Given the description of an element on the screen output the (x, y) to click on. 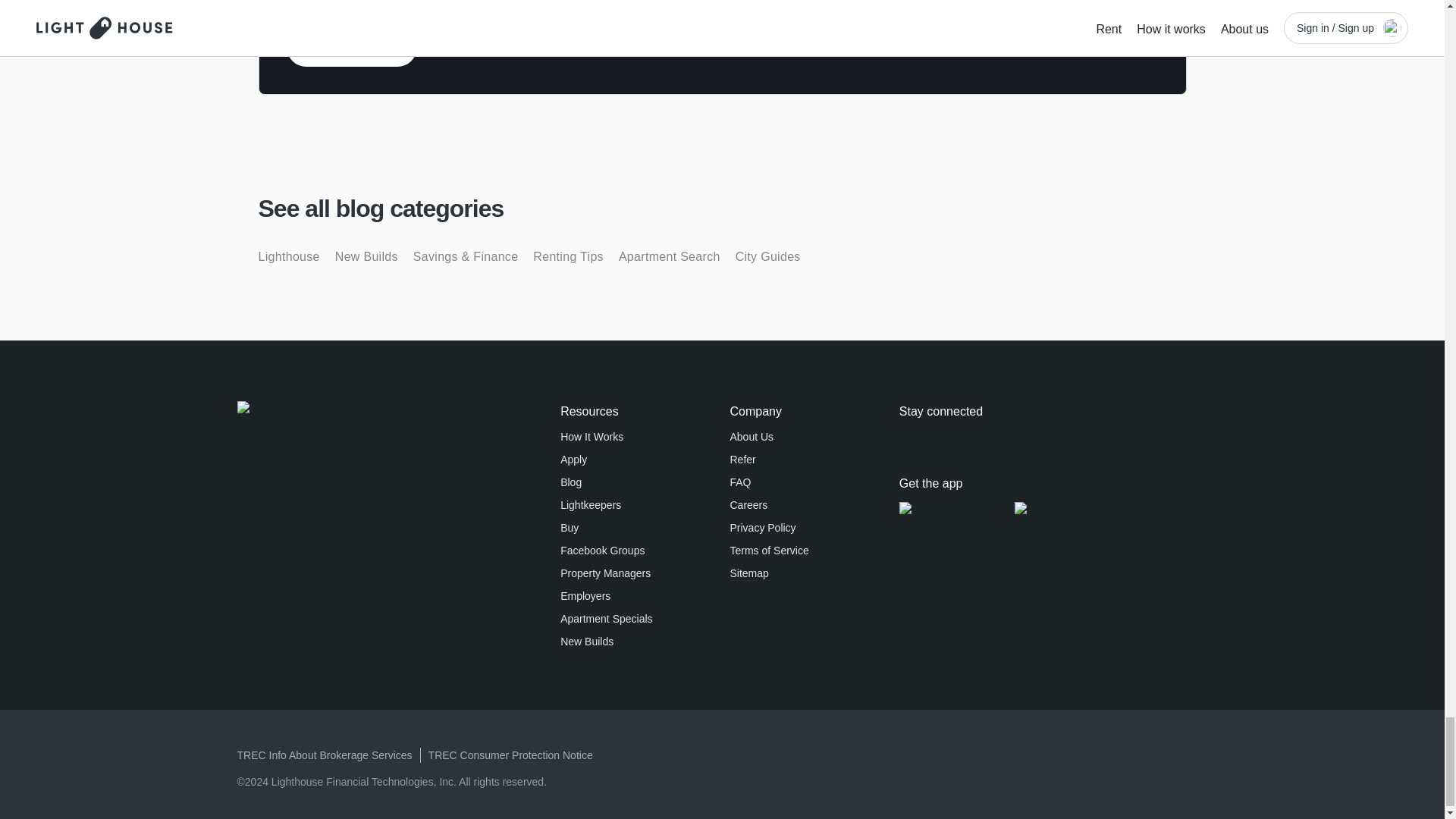
Lighthouse iOS App (956, 508)
Lighthouse Twitter (908, 438)
Lighthouse Instagram (1007, 438)
Lighthouse Android App (1081, 508)
Lighthouse LinkedIn (942, 438)
Lighthouse Facebook (975, 438)
